Given the description of an element on the screen output the (x, y) to click on. 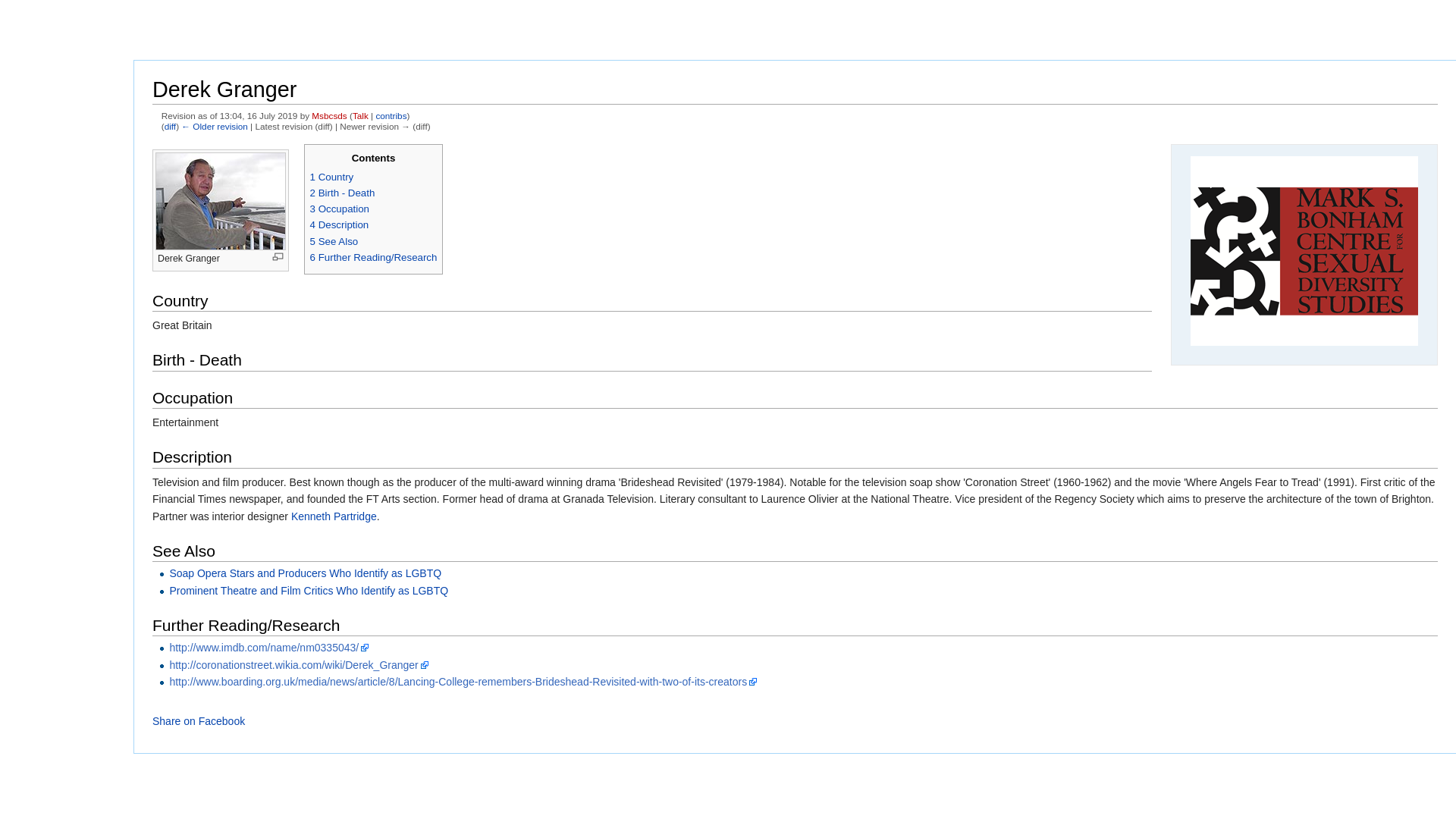
1 Country (331, 176)
Prominent Theatre and Film Critics Who Identify as LGBTQ (308, 590)
Kenneth Partridge (334, 516)
3 Occupation (339, 208)
diff (170, 126)
contribs (390, 115)
2 Birth - Death (342, 193)
Msbcsds (328, 115)
Kenneth Partridge (334, 516)
Soap Opera Stars and Producers Who Identify as LGBTQ (304, 573)
Talk (360, 115)
Enlarge (277, 256)
Soap Opera Stars and Producers Who Identify as LGBTQ (304, 573)
Derek Granger (170, 126)
Prominent Theatre and Film Critics Who Identify as LGBTQ (308, 590)
